Given the description of an element on the screen output the (x, y) to click on. 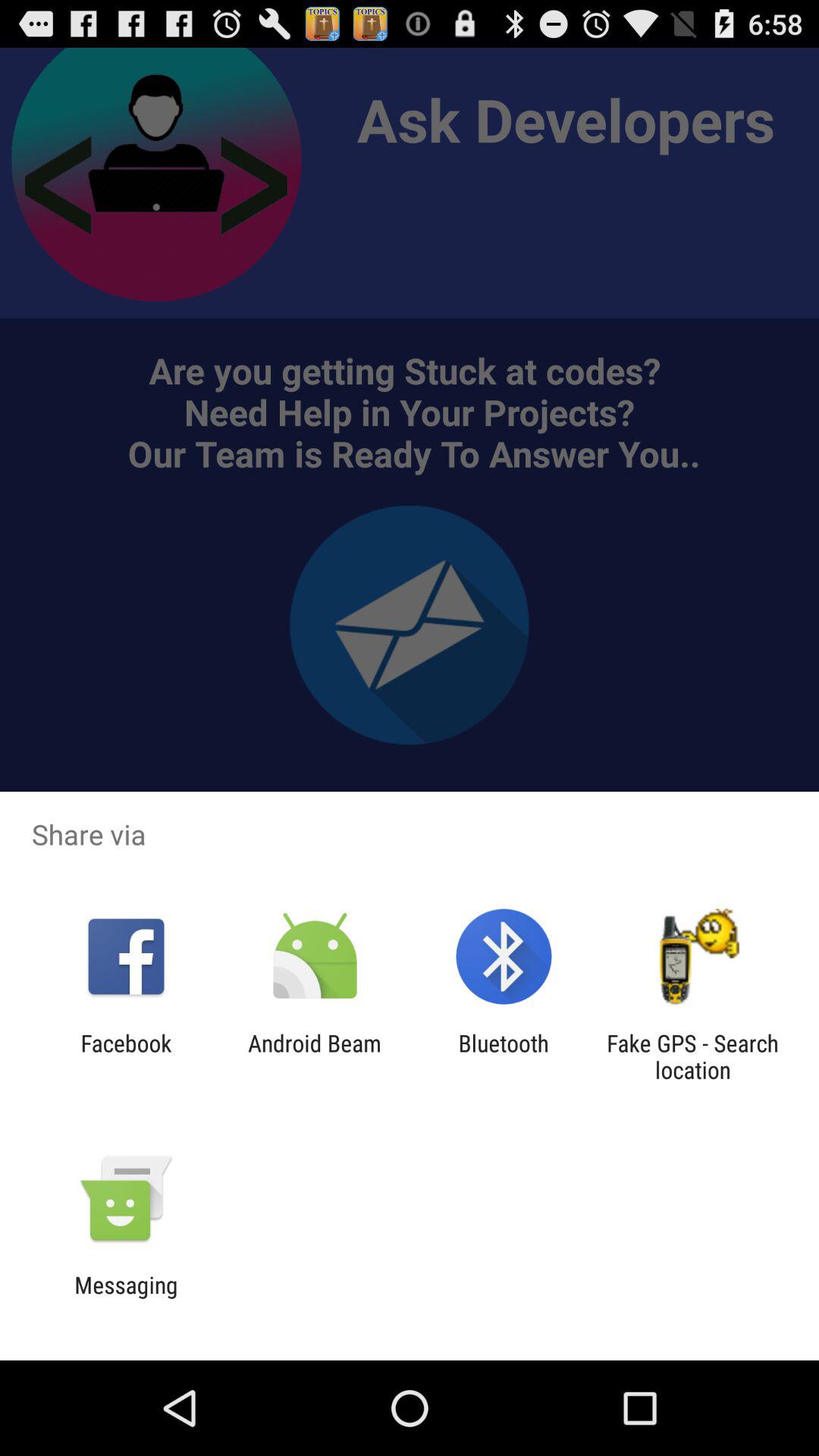
launch icon next to fake gps search (503, 1056)
